Given the description of an element on the screen output the (x, y) to click on. 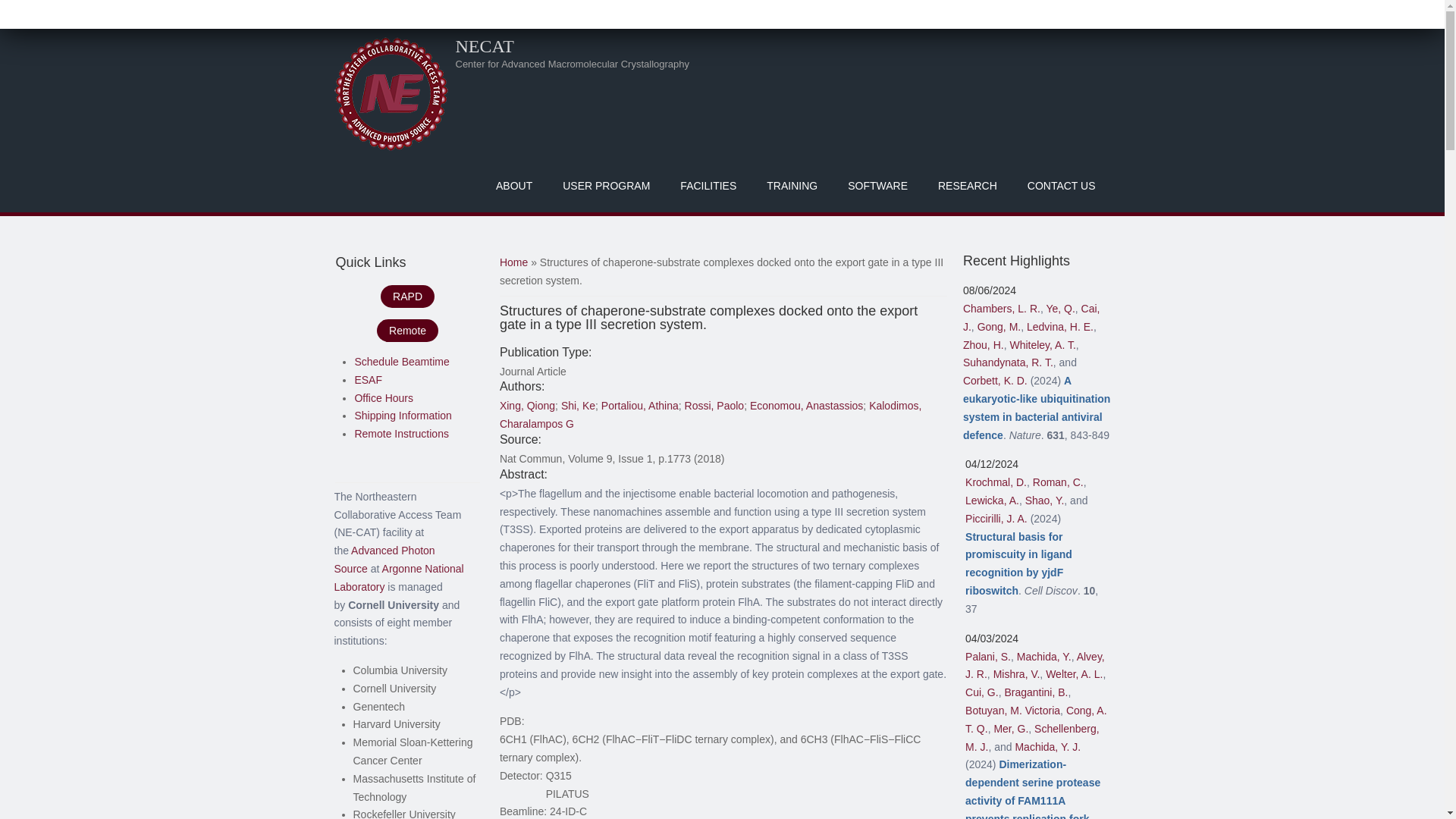
ABOUT (513, 185)
Home (483, 45)
Home (389, 93)
NECAT (483, 45)
USER PROGRAM (606, 185)
